Given the description of an element on the screen output the (x, y) to click on. 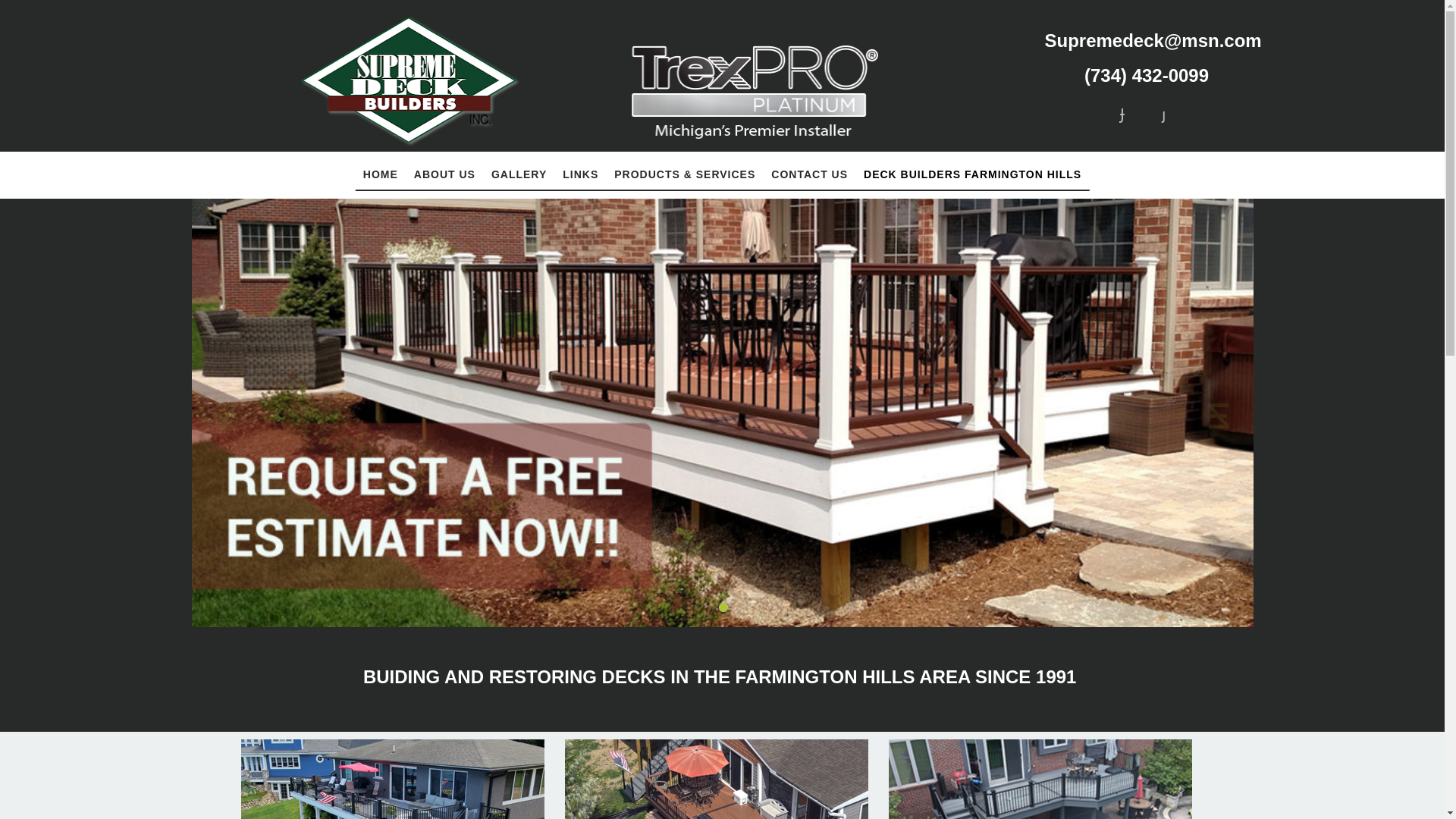
CONTACT US (809, 173)
HOME (380, 173)
ABOUT US (444, 173)
DECK BUILDERS FARMINGTON HILLS (972, 173)
GALLERY (518, 173)
LINKS (580, 173)
